Given the description of an element on the screen output the (x, y) to click on. 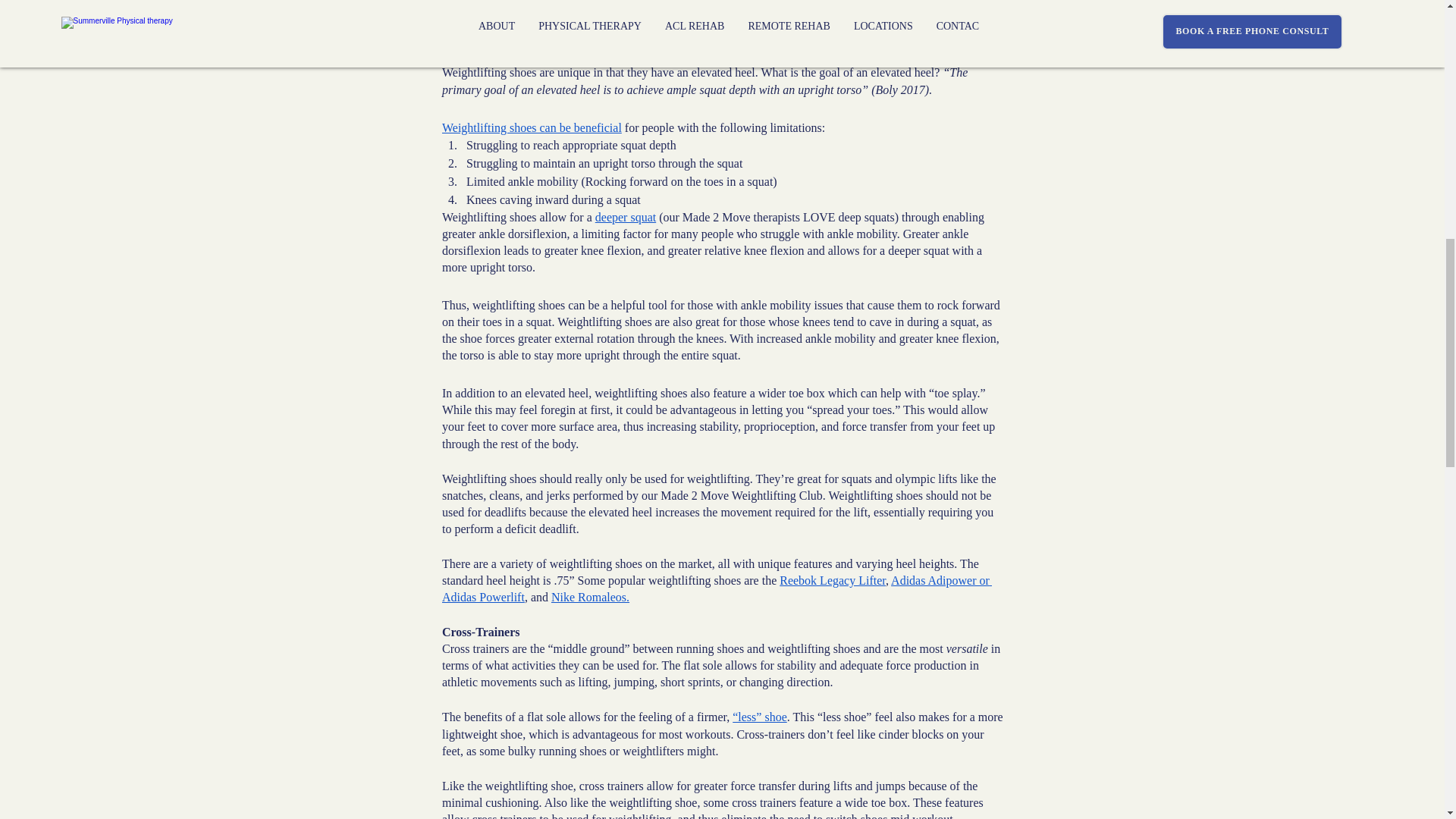
Nike Romaleos. (589, 596)
Weightlifting shoes can be beneficial (531, 127)
Adidas Adipower or Adidas Powerlift (716, 588)
deeper squat (624, 216)
Reebok Legacy Lifter (831, 580)
